Given the description of an element on the screen output the (x, y) to click on. 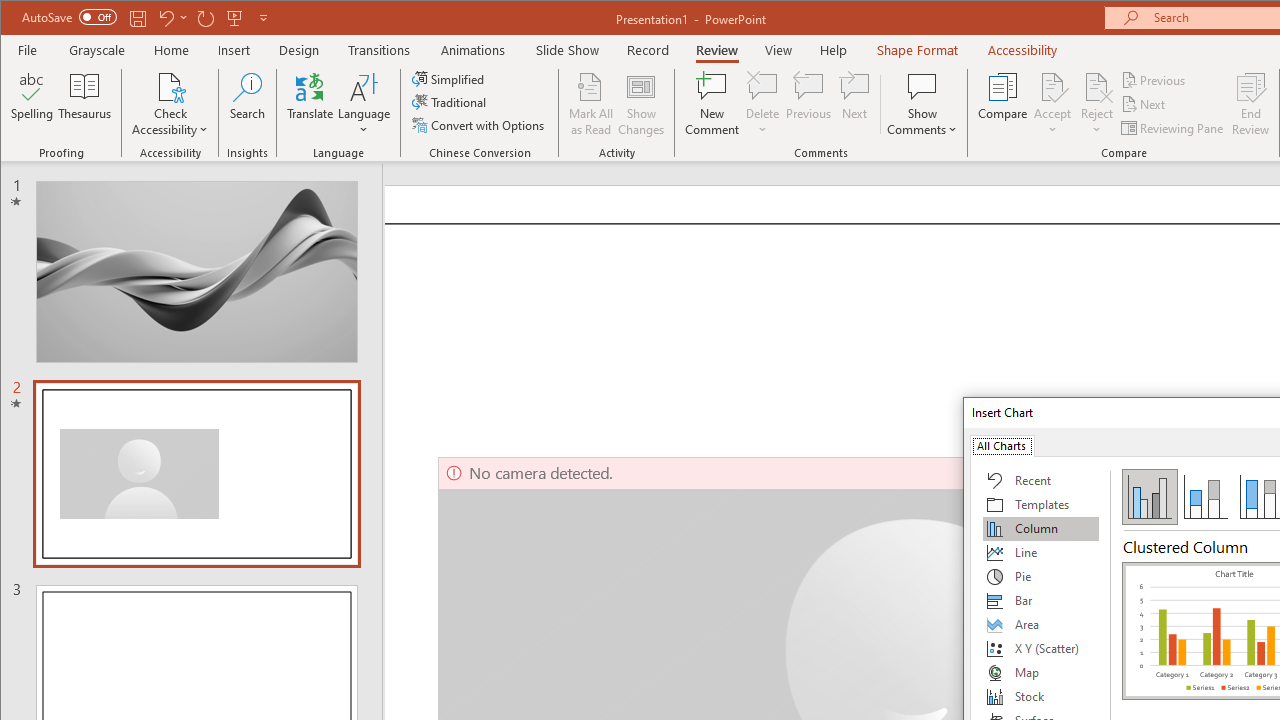
Show Changes (640, 104)
Accept Change (1052, 86)
Area (1041, 624)
Clustered Column (1149, 496)
Accept (1052, 104)
Reject Change (1096, 86)
